Given the description of an element on the screen output the (x, y) to click on. 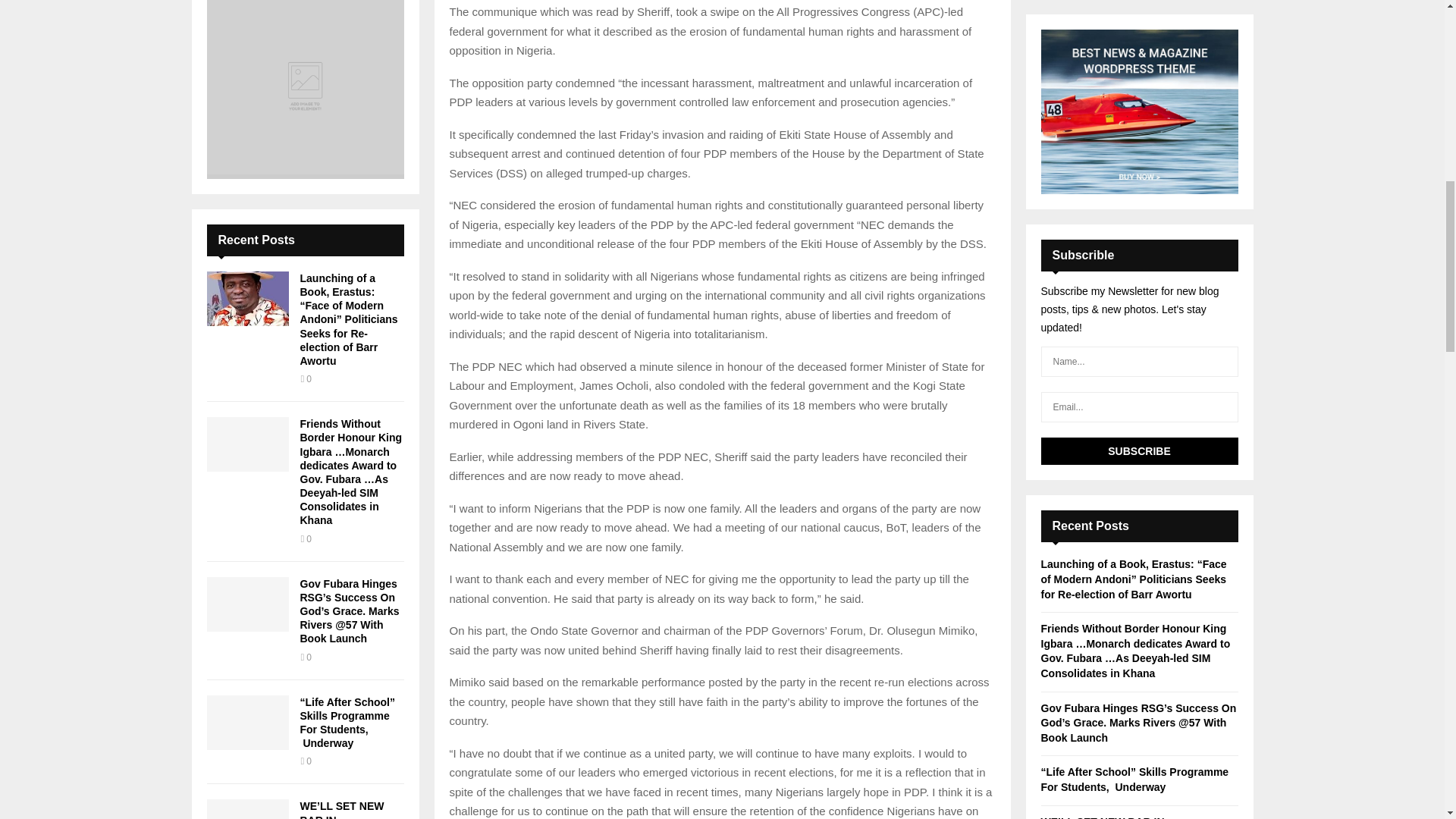
Subscribe (1139, 451)
